Given the description of an element on the screen output the (x, y) to click on. 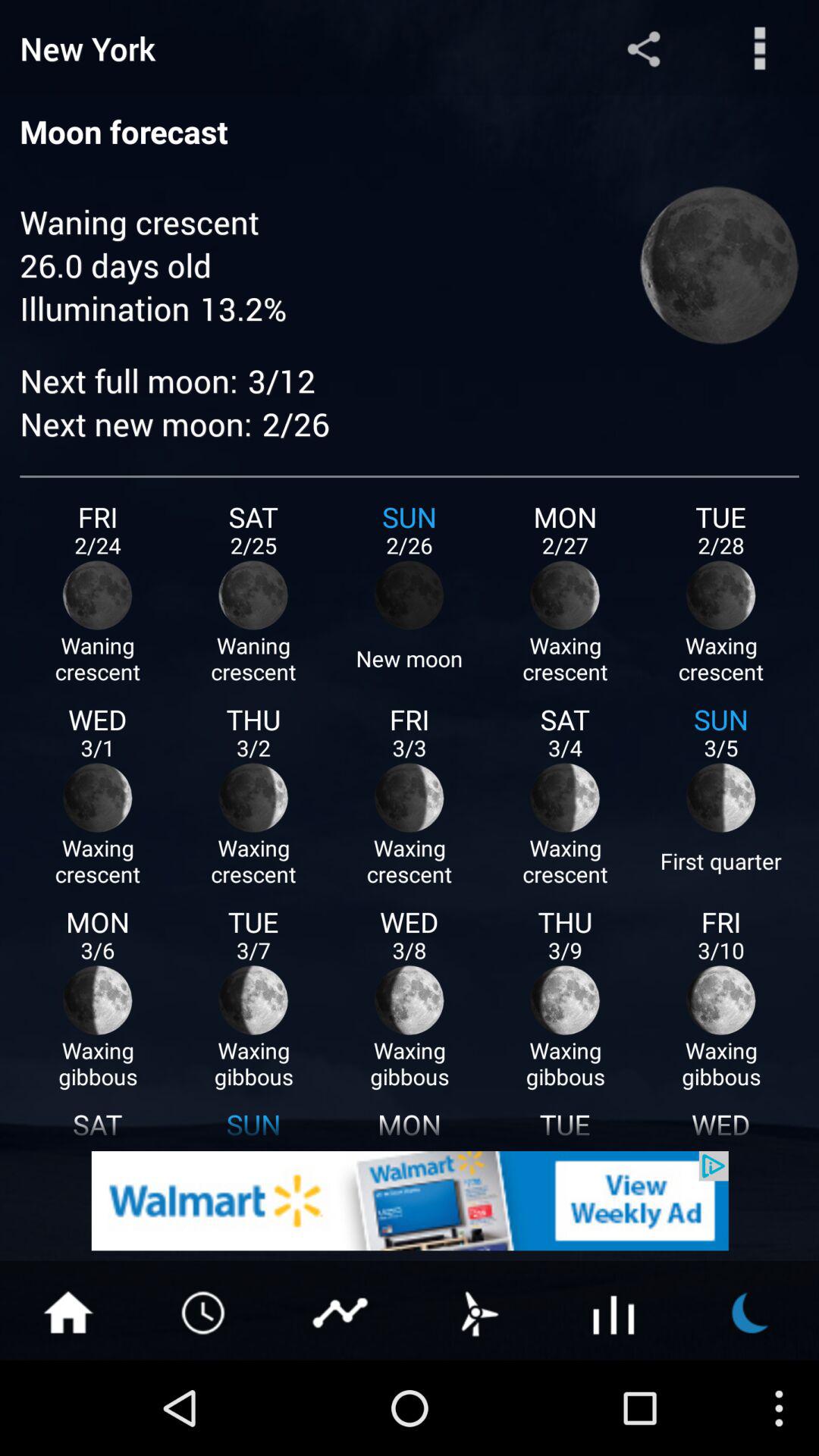
home (68, 1311)
